Given the description of an element on the screen output the (x, y) to click on. 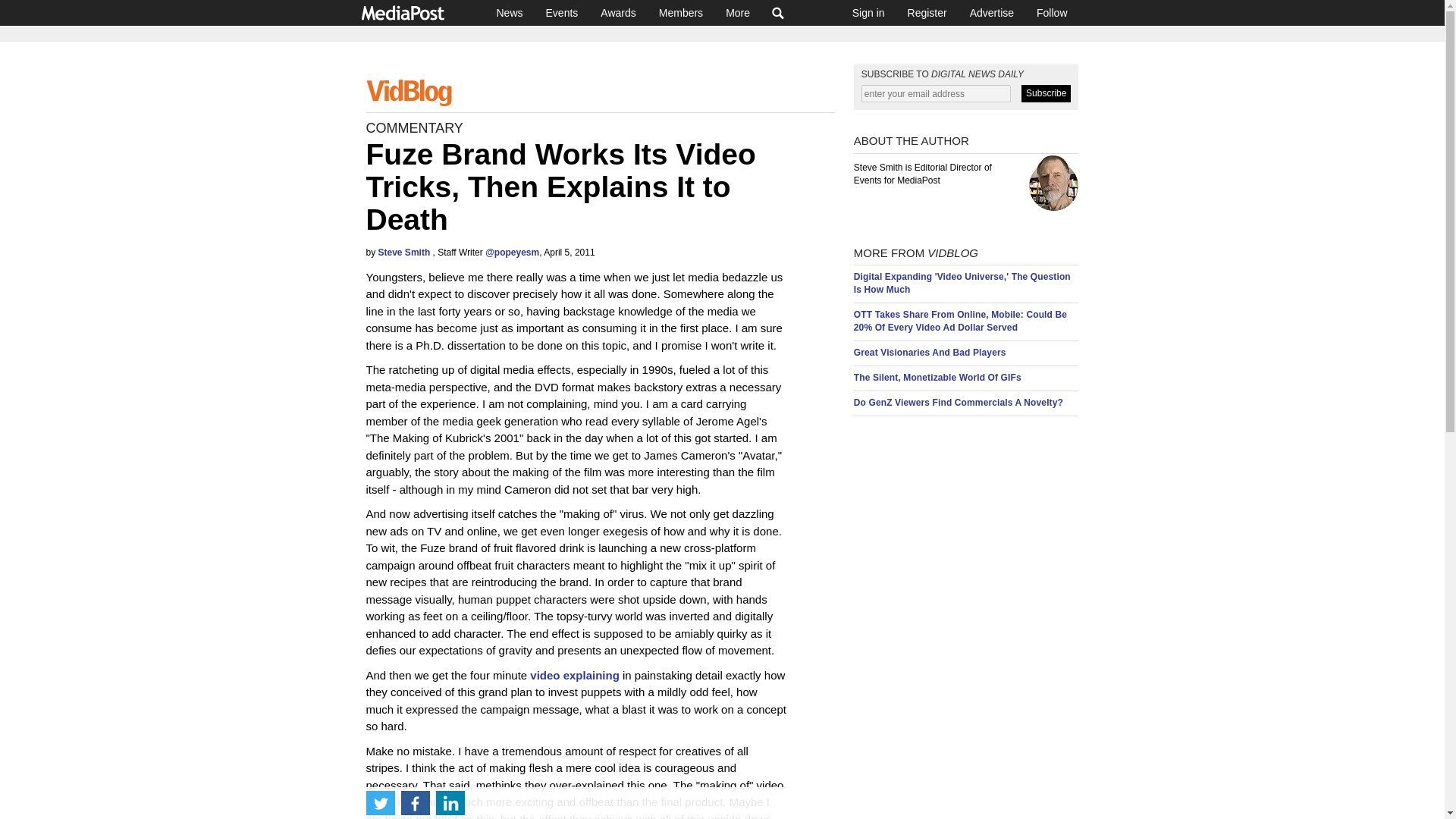
Share on Facebook (414, 802)
Share on LinkedIn (449, 802)
Share on Twitter (379, 802)
Subscribe (1046, 93)
News (509, 12)
